Given the description of an element on the screen output the (x, y) to click on. 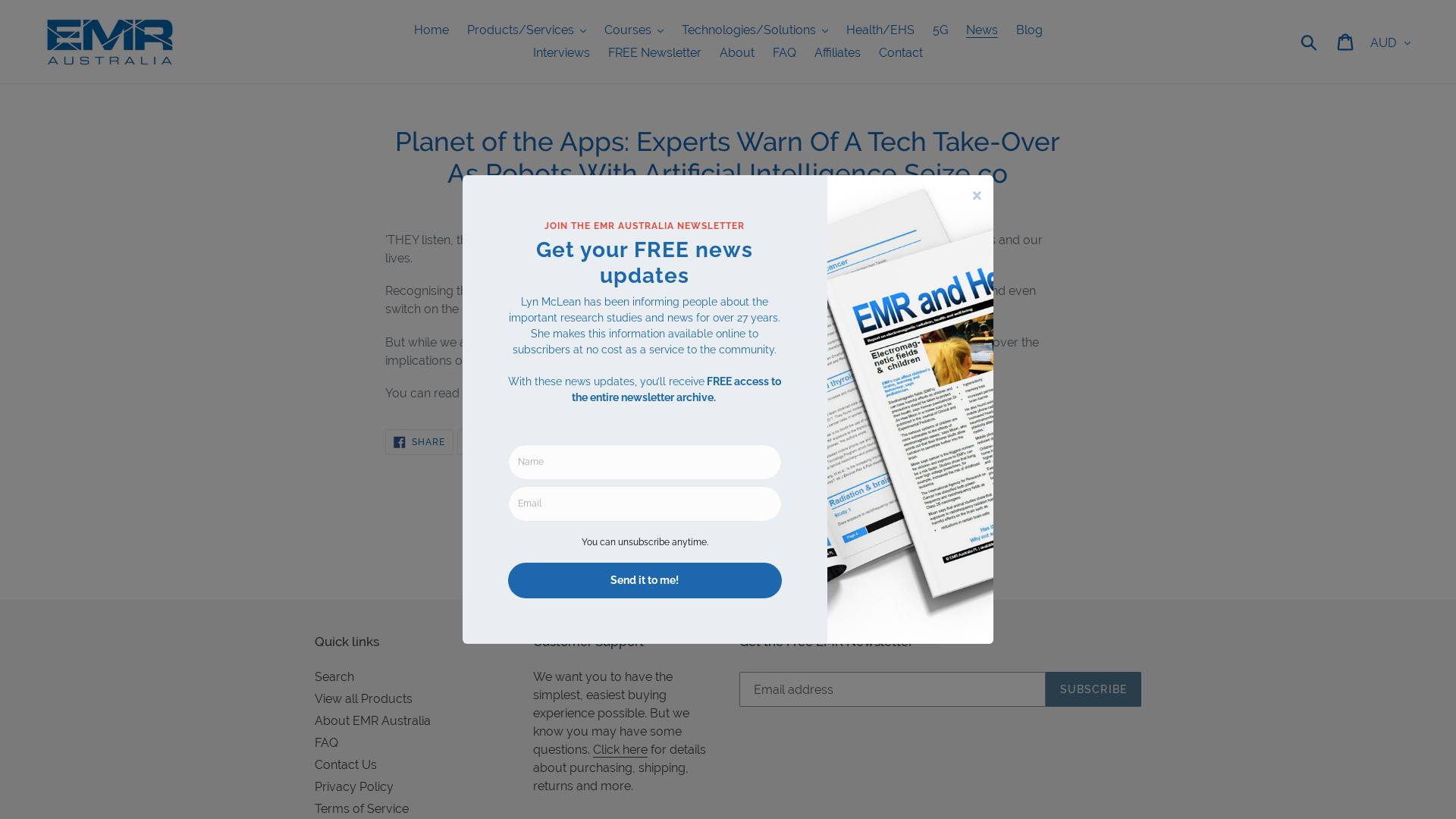
Affiliates Element type: text (837, 52)
PIN IT
PIN ON PINTEREST Element type: text (562, 442)
About EMR Australia Element type: text (372, 720)
Health/EHS Element type: text (880, 29)
News Element type: text (981, 29)
BACK TO NEWS Element type: text (727, 541)
Blog Element type: text (1029, 29)
FREE Newsletter Element type: text (654, 52)
FAQ Element type: text (784, 52)
About Element type: text (737, 52)
here. Element type: text (509, 393)
TWEET
TWEET ON TWITTER Element type: text (492, 442)
Click here Element type: text (620, 749)
FAQ Element type: text (326, 742)
View all Products Element type: text (363, 698)
Interviews Element type: text (561, 52)
Contact Us Element type: text (345, 764)
Cart Element type: text (1346, 41)
5G Element type: text (940, 29)
Terms of Service Element type: text (361, 808)
Home Element type: text (431, 29)
Search Element type: text (334, 676)
Submit Element type: text (1309, 41)
SHARE
SHARE ON FACEBOOK Element type: text (419, 442)
SUBSCRIBE Element type: text (1093, 688)
Contact Element type: text (900, 52)
Privacy Policy Element type: text (353, 786)
